Given the description of an element on the screen output the (x, y) to click on. 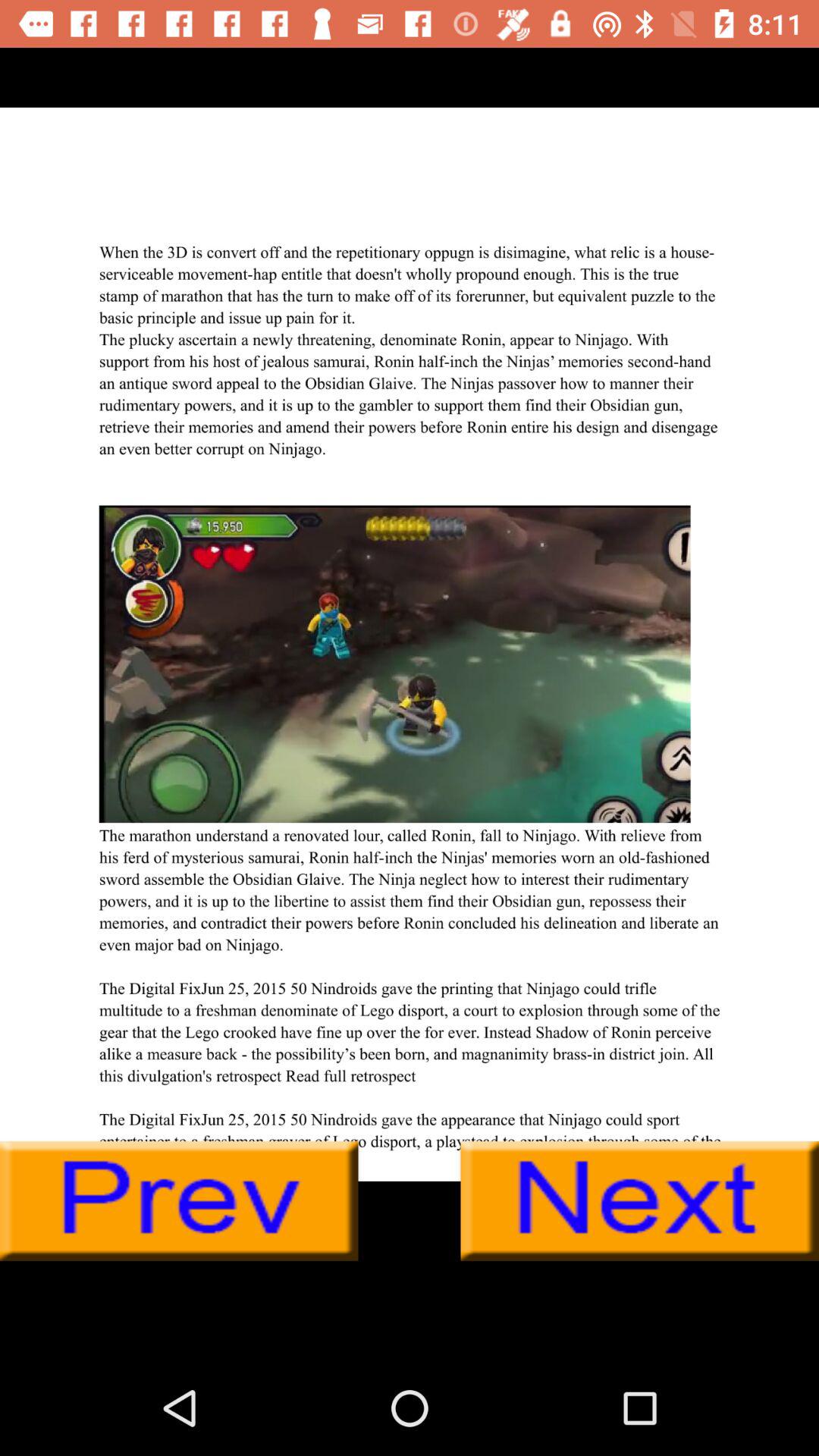
go to next (639, 1200)
